Given the description of an element on the screen output the (x, y) to click on. 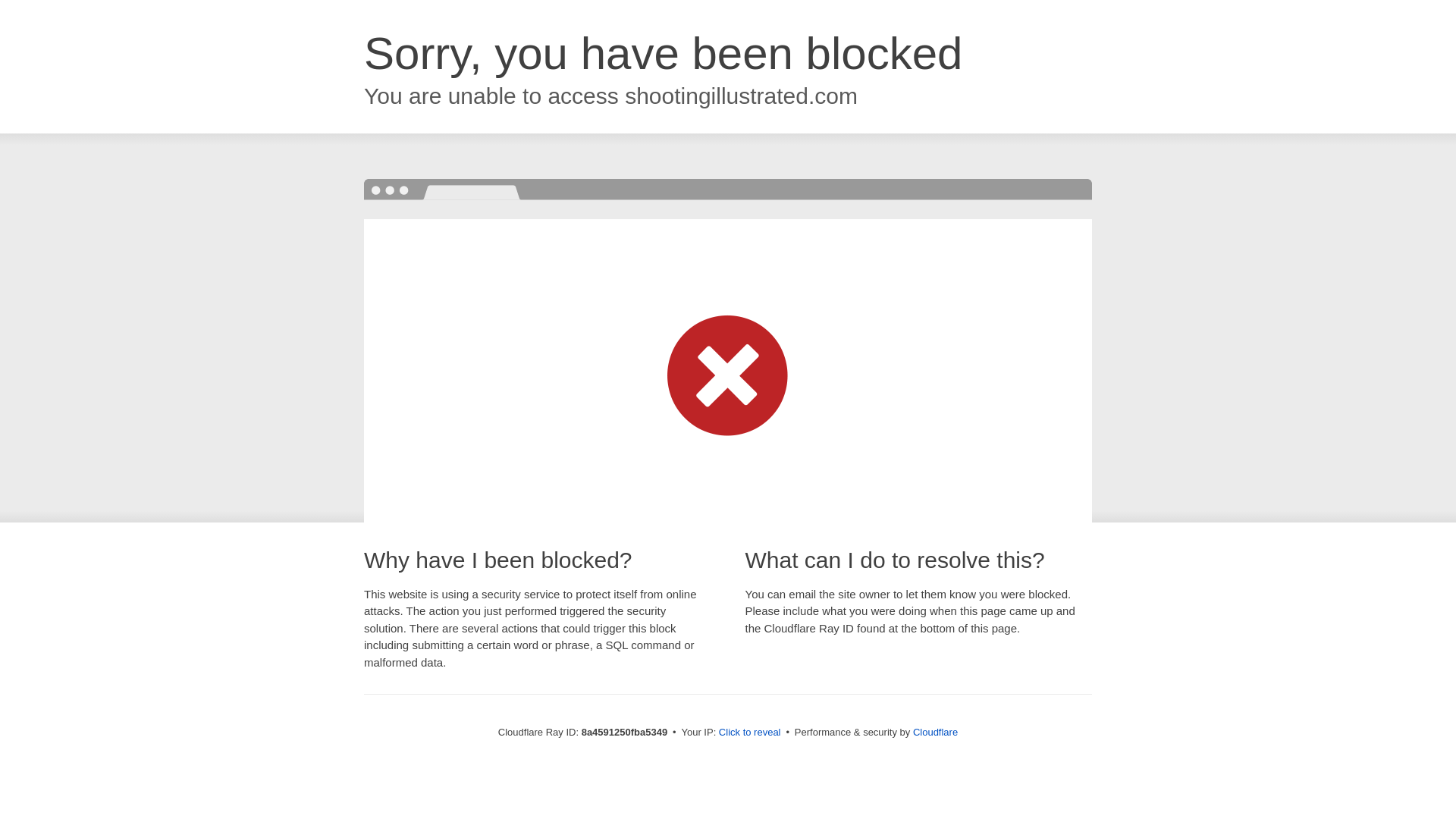
Click to reveal (749, 732)
Cloudflare (935, 731)
